Given the description of an element on the screen output the (x, y) to click on. 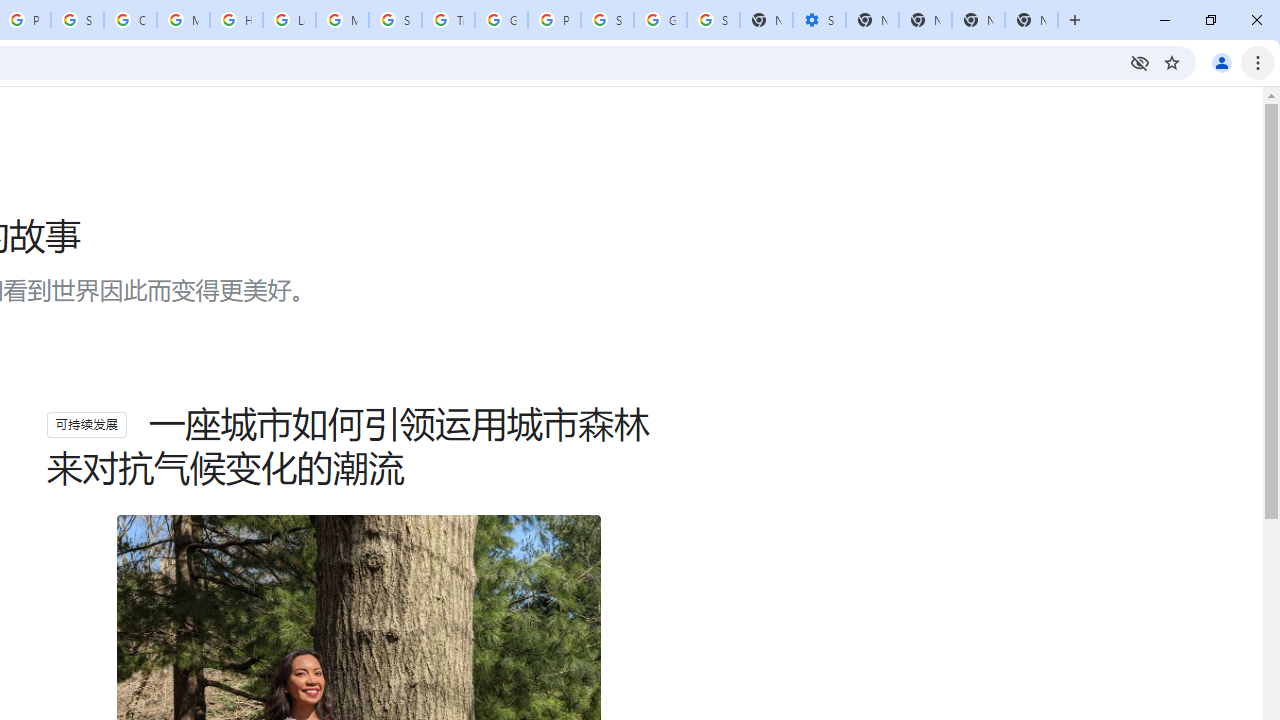
Trusted Information and Content - Google Safety Center (448, 20)
Sign in - Google Accounts (607, 20)
Sign in - Google Accounts (713, 20)
Google Ads - Sign in (501, 20)
